Given the description of an element on the screen output the (x, y) to click on. 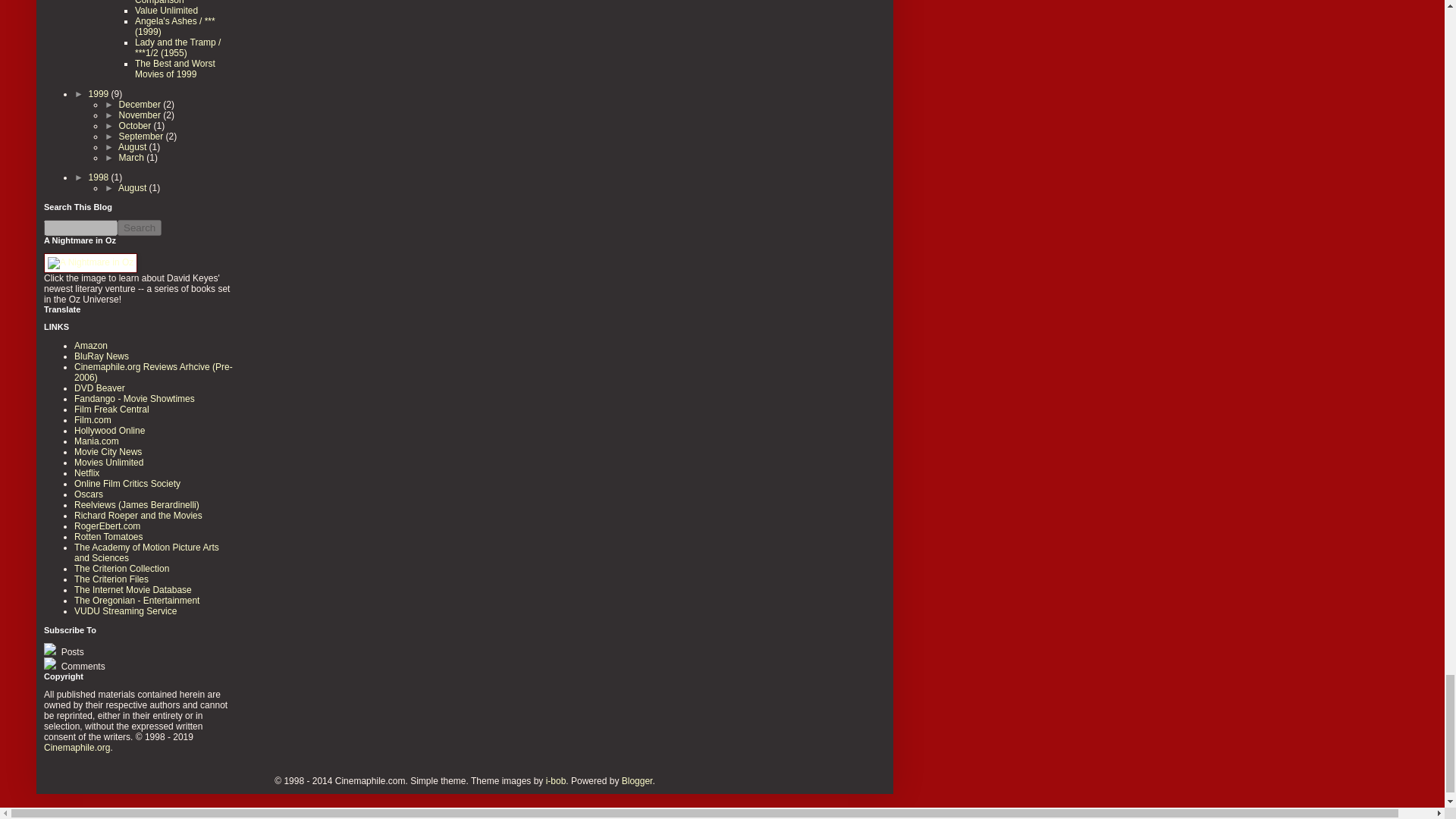
search (80, 227)
search (139, 227)
Search (139, 227)
Search (139, 227)
